Given the description of an element on the screen output the (x, y) to click on. 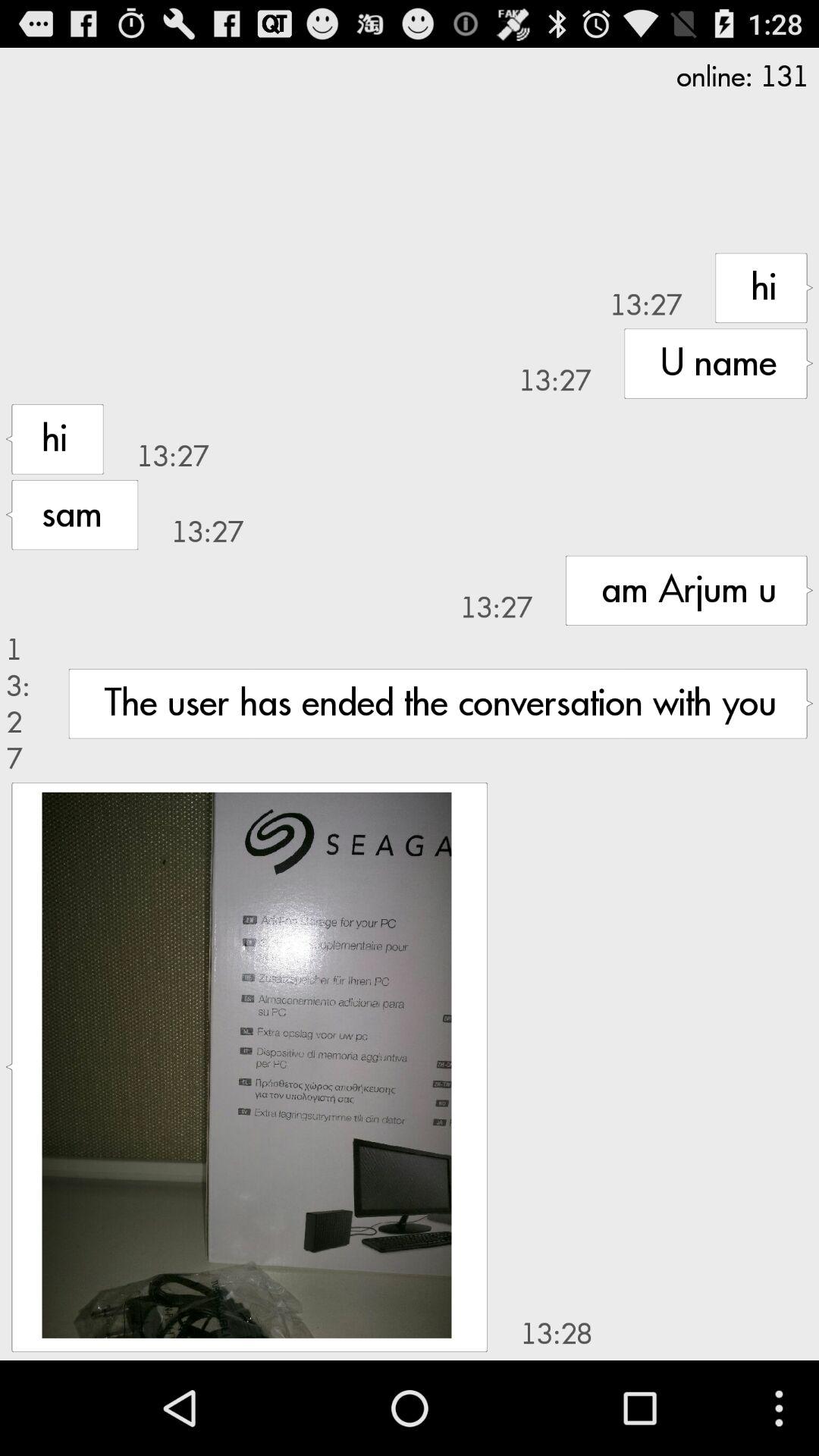
enlarge photo (246, 1065)
